Given the description of an element on the screen output the (x, y) to click on. 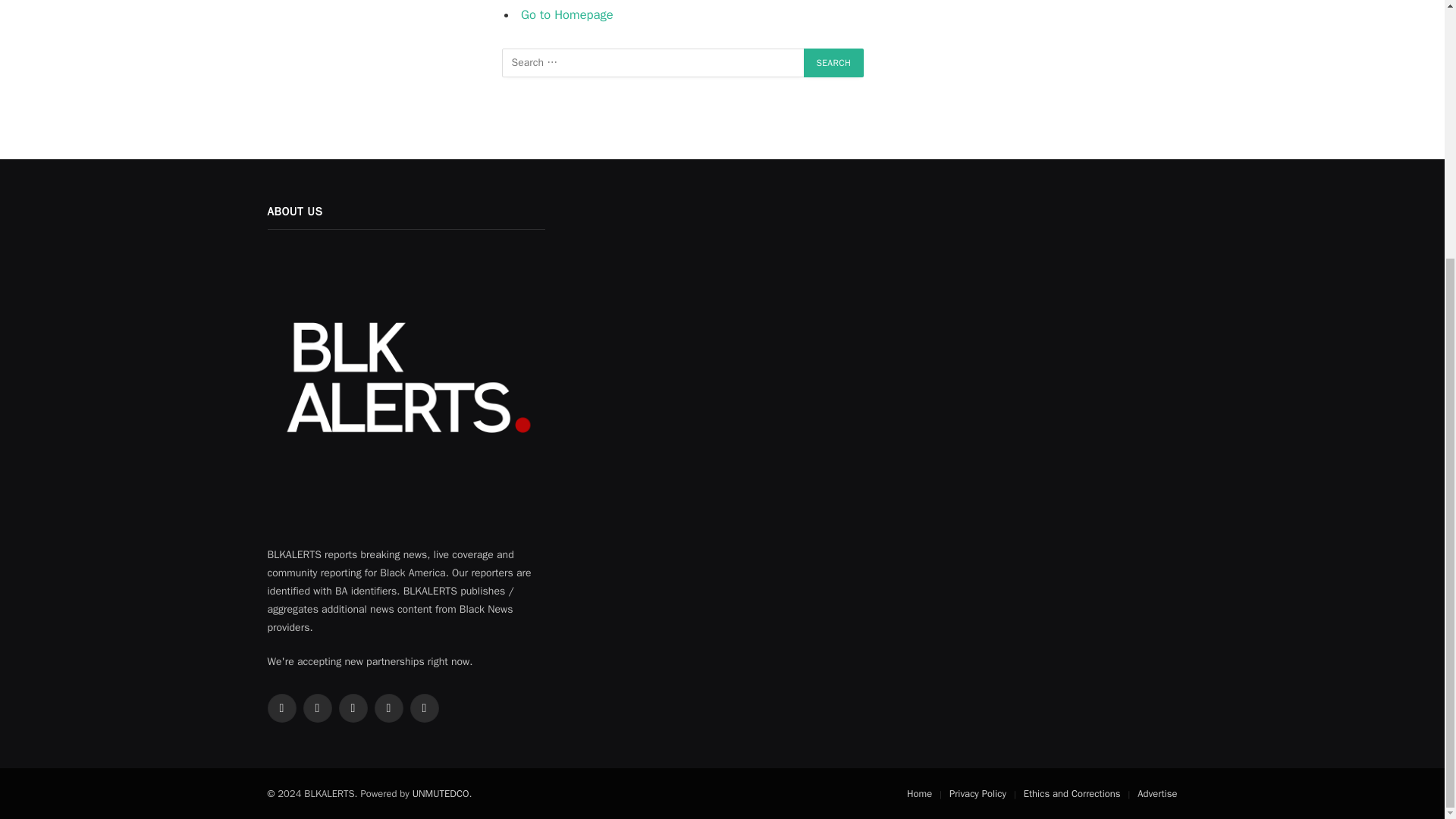
Search (833, 62)
Search (833, 62)
